Given the description of an element on the screen output the (x, y) to click on. 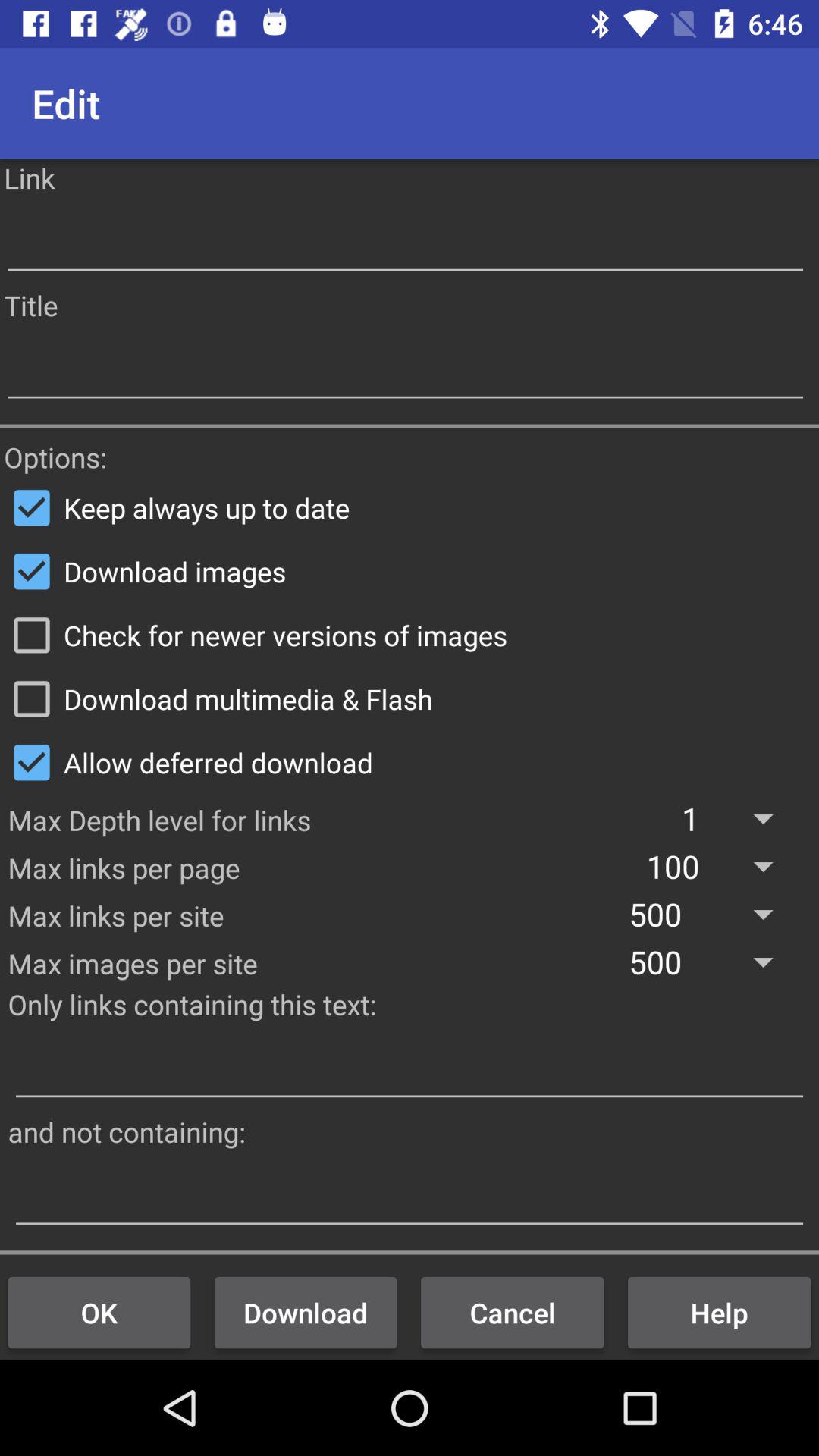
open icon above allow deferred download item (409, 698)
